Given the description of an element on the screen output the (x, y) to click on. 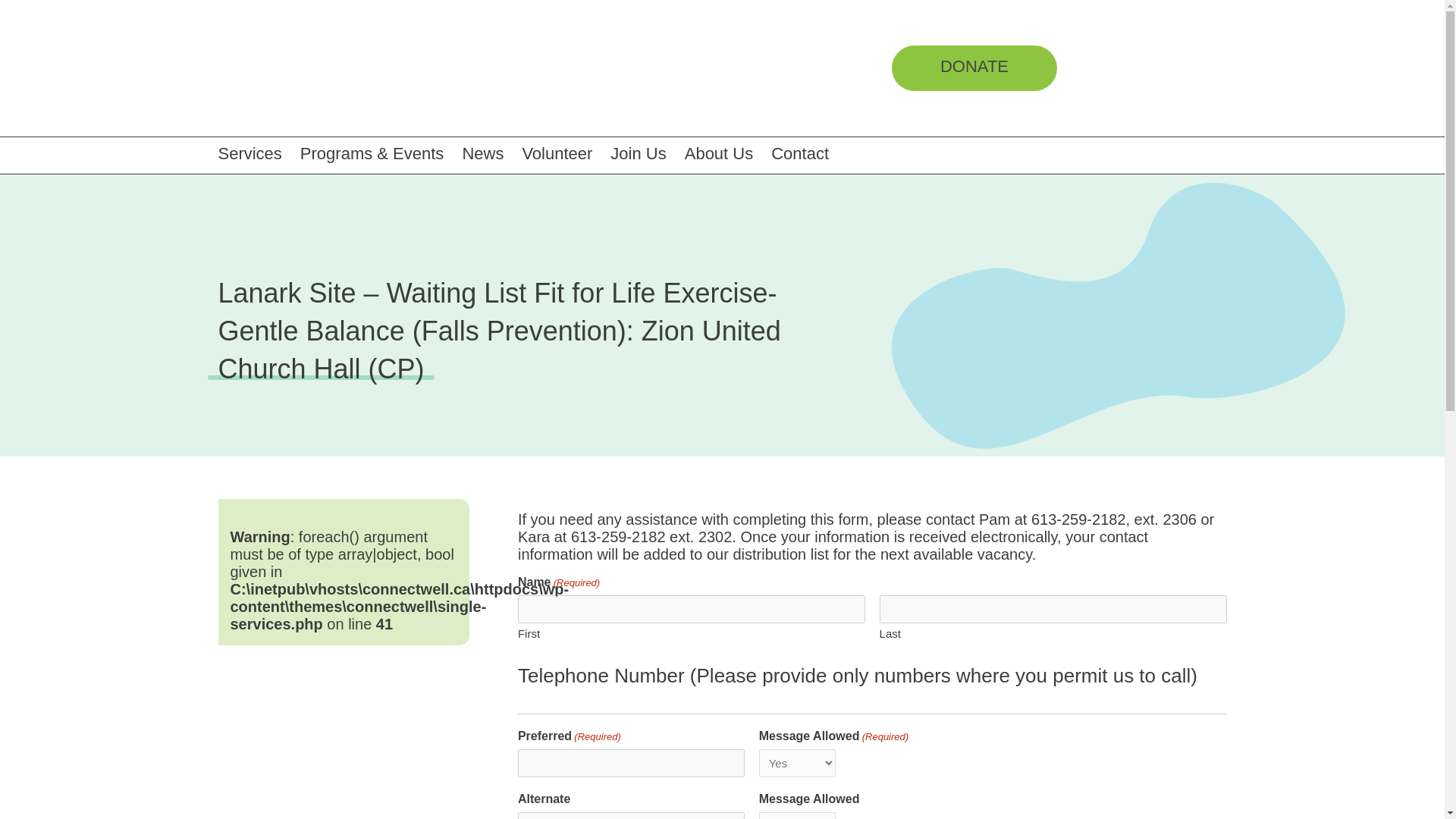
About Us (727, 153)
Volunteer (565, 153)
Join Us (647, 153)
DONATE (974, 67)
Contact (809, 153)
Services (258, 153)
News (491, 153)
